Given the description of an element on the screen output the (x, y) to click on. 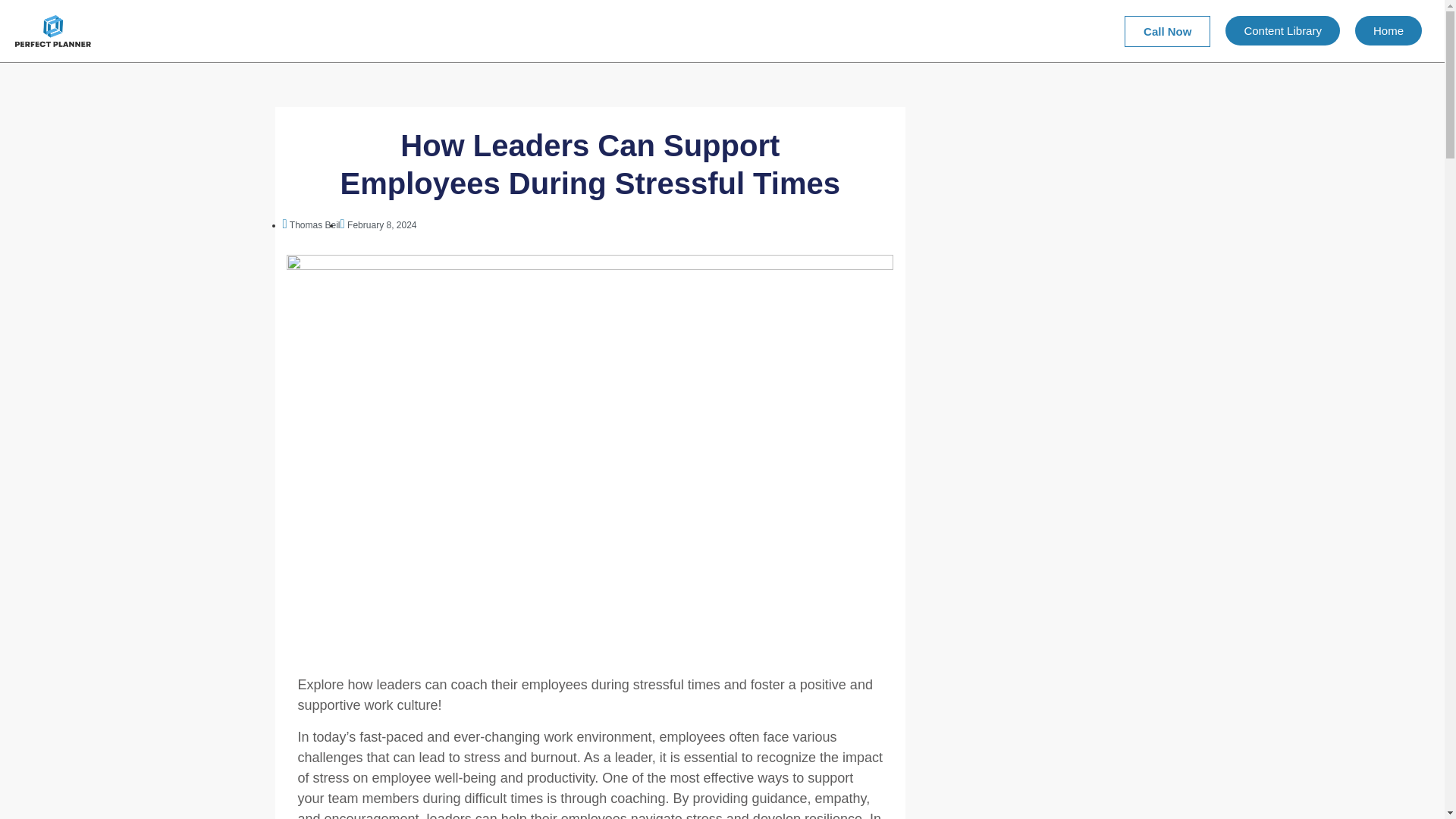
Content Library (1282, 30)
Home (1388, 30)
Call Now (1166, 30)
